Given the description of an element on the screen output the (x, y) to click on. 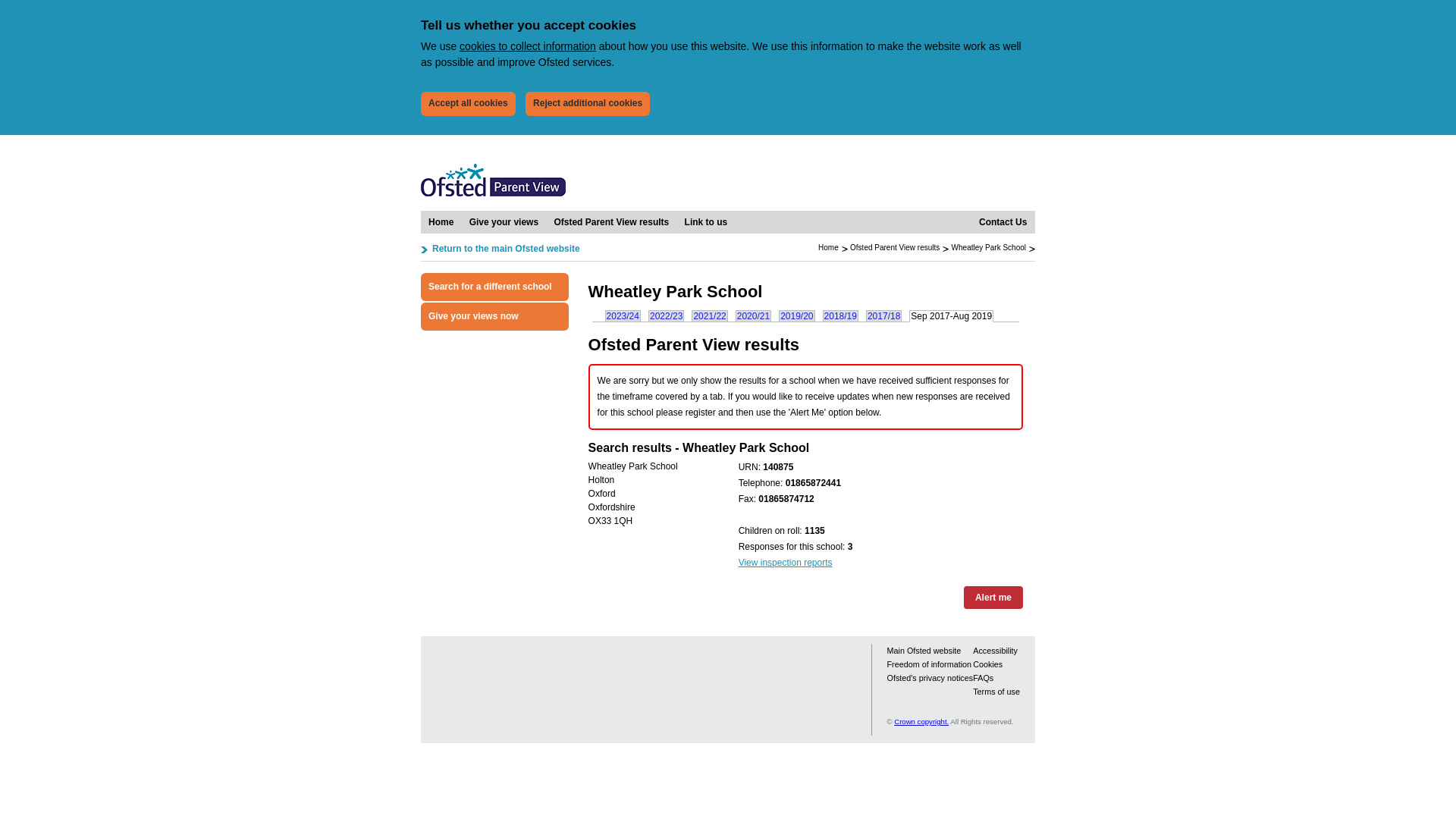
Main Ofsted website (923, 650)
Terms of use (996, 691)
Give your views now (494, 316)
Ofsted's privacy notices (930, 677)
View inspection reports (785, 562)
Ofsted Parent View results (611, 221)
Cookies (987, 664)
Give your views (503, 221)
Home (828, 247)
Accessibility (994, 650)
Link to us (706, 221)
Crown copyright. (921, 721)
Ofsted Parent View results (611, 221)
Reject additional cookies (587, 103)
